Given the description of an element on the screen output the (x, y) to click on. 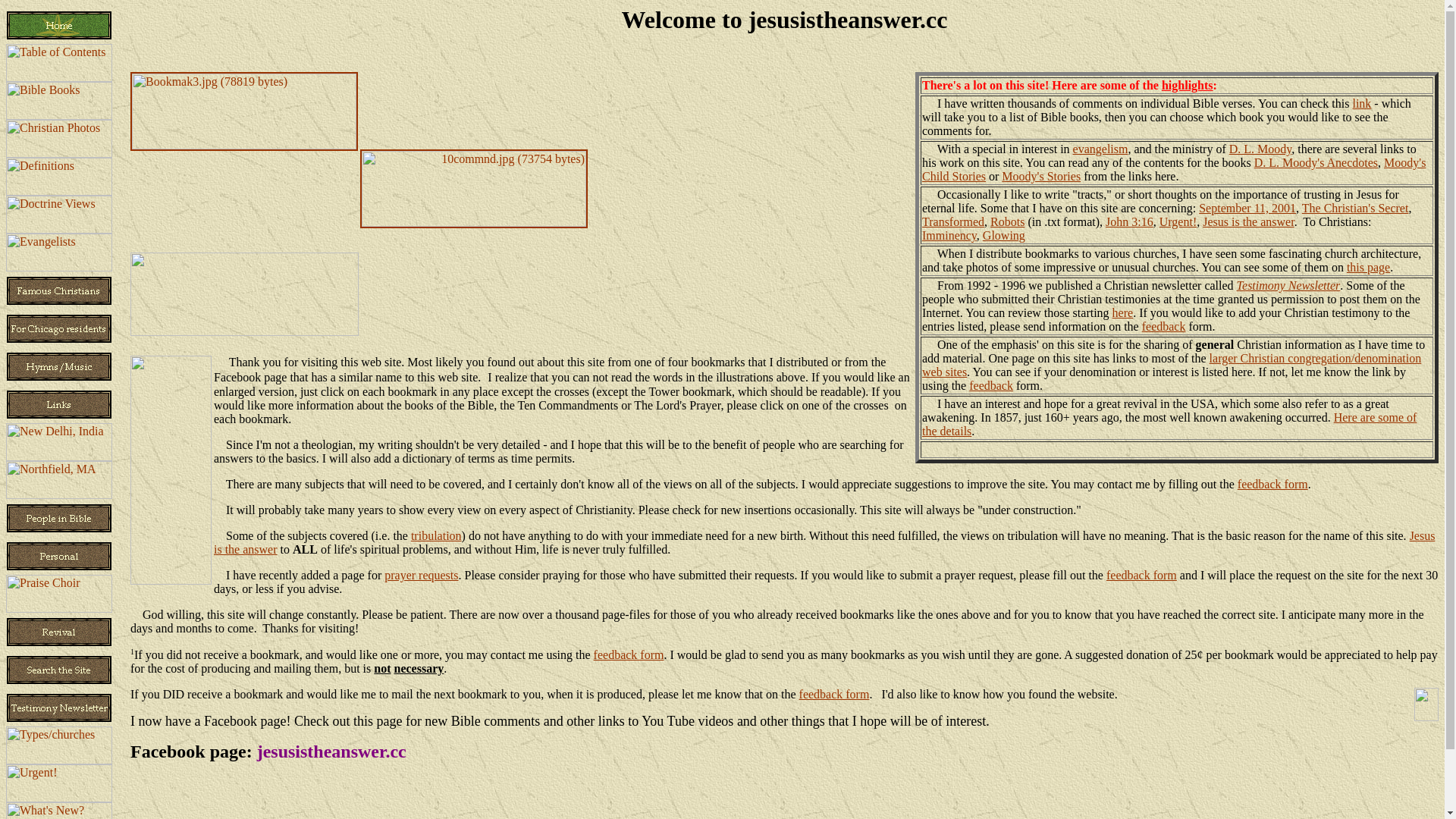
Moody's Child Stories Element type: text (1173, 169)
D. L. Moody Element type: text (1260, 148)
feedback Element type: text (991, 385)
feedback form Element type: text (1141, 574)
Jesus is the answer Element type: text (1247, 221)
D. L. Moody's Anecdotes Element type: text (1315, 162)
Robots Element type: text (1007, 221)
Moody's Stories Element type: text (1040, 175)
link Element type: text (1361, 103)
this page Element type: text (1368, 266)
Glowing Element type: text (1003, 235)
Jesus is the answer Element type: text (823, 542)
evangelism Element type: text (1100, 148)
feedback form Element type: text (1272, 483)
prayer requests Element type: text (421, 574)
The Christian's Secret Element type: text (1355, 207)
Transformed Element type: text (953, 221)
John 3:16 Element type: text (1129, 221)
larger Christian congregation/denomination web sites Element type: text (1171, 364)
here Element type: text (1122, 312)
Urgent! Element type: text (1177, 221)
feedback form Element type: text (628, 654)
feedback Element type: text (1164, 326)
September 11, 2001 Element type: text (1246, 207)
Here are some of the details Element type: text (1169, 424)
feedback form Element type: text (834, 693)
tribulation Element type: text (436, 535)
Imminency Element type: text (949, 235)
Testimony Newsletter Element type: text (1288, 285)
